Given the description of an element on the screen output the (x, y) to click on. 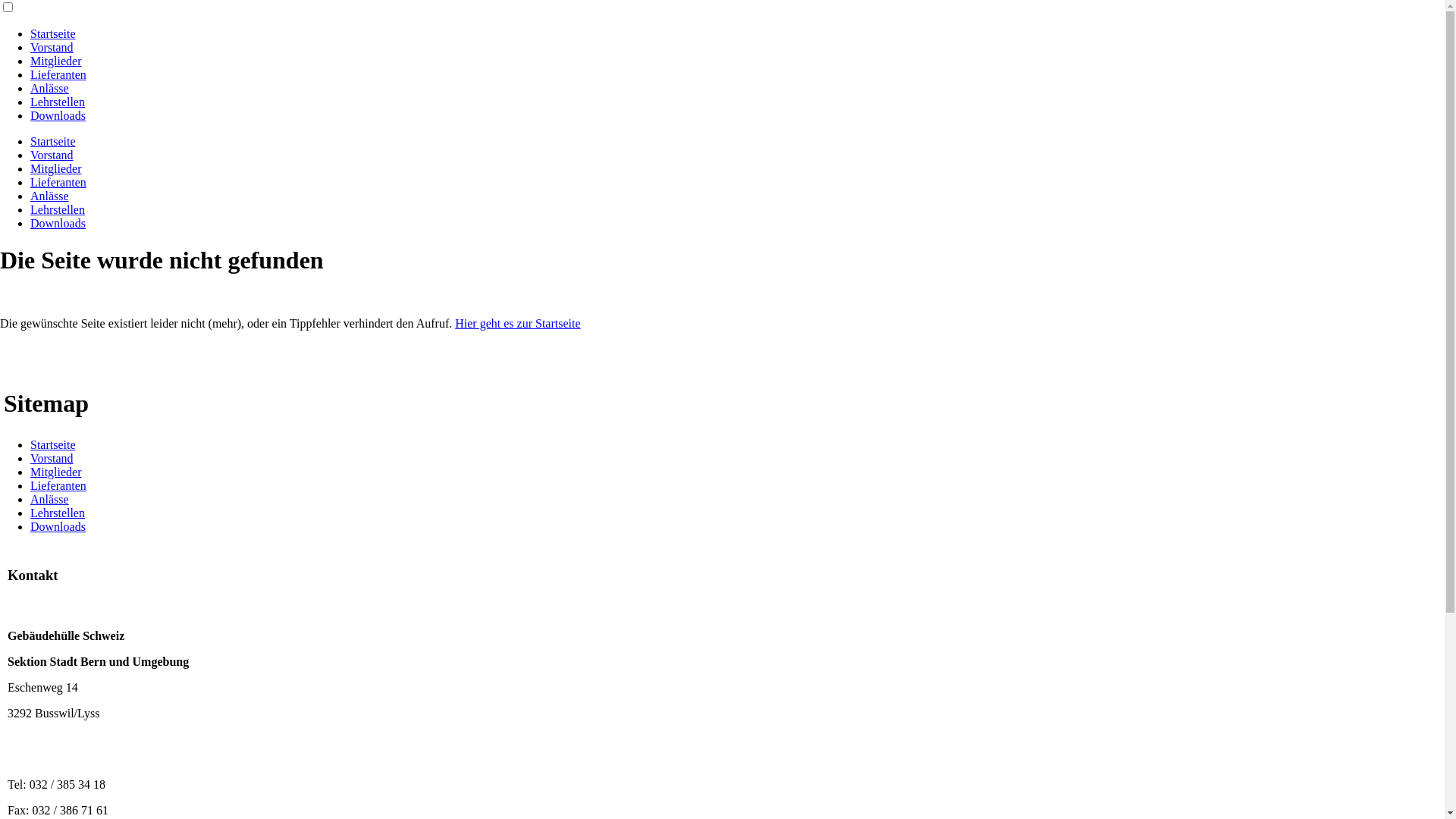
Lehrstellen Element type: text (57, 209)
Mitglieder Element type: text (55, 168)
Vorstand Element type: text (51, 46)
Lehrstellen Element type: text (57, 512)
Lieferanten Element type: text (58, 74)
Startseite Element type: text (52, 140)
Vorstand Element type: text (51, 457)
Mitglieder Element type: text (55, 471)
Startseite Element type: text (52, 444)
Downloads Element type: text (57, 222)
Lieferanten Element type: text (58, 181)
Mitglieder Element type: text (55, 60)
Downloads Element type: text (57, 115)
Lieferanten Element type: text (58, 485)
Downloads Element type: text (57, 526)
Vorstand Element type: text (51, 154)
Startseite Element type: text (52, 33)
Hier geht es zur Startseite Element type: text (517, 322)
Lehrstellen Element type: text (57, 101)
